Given the description of an element on the screen output the (x, y) to click on. 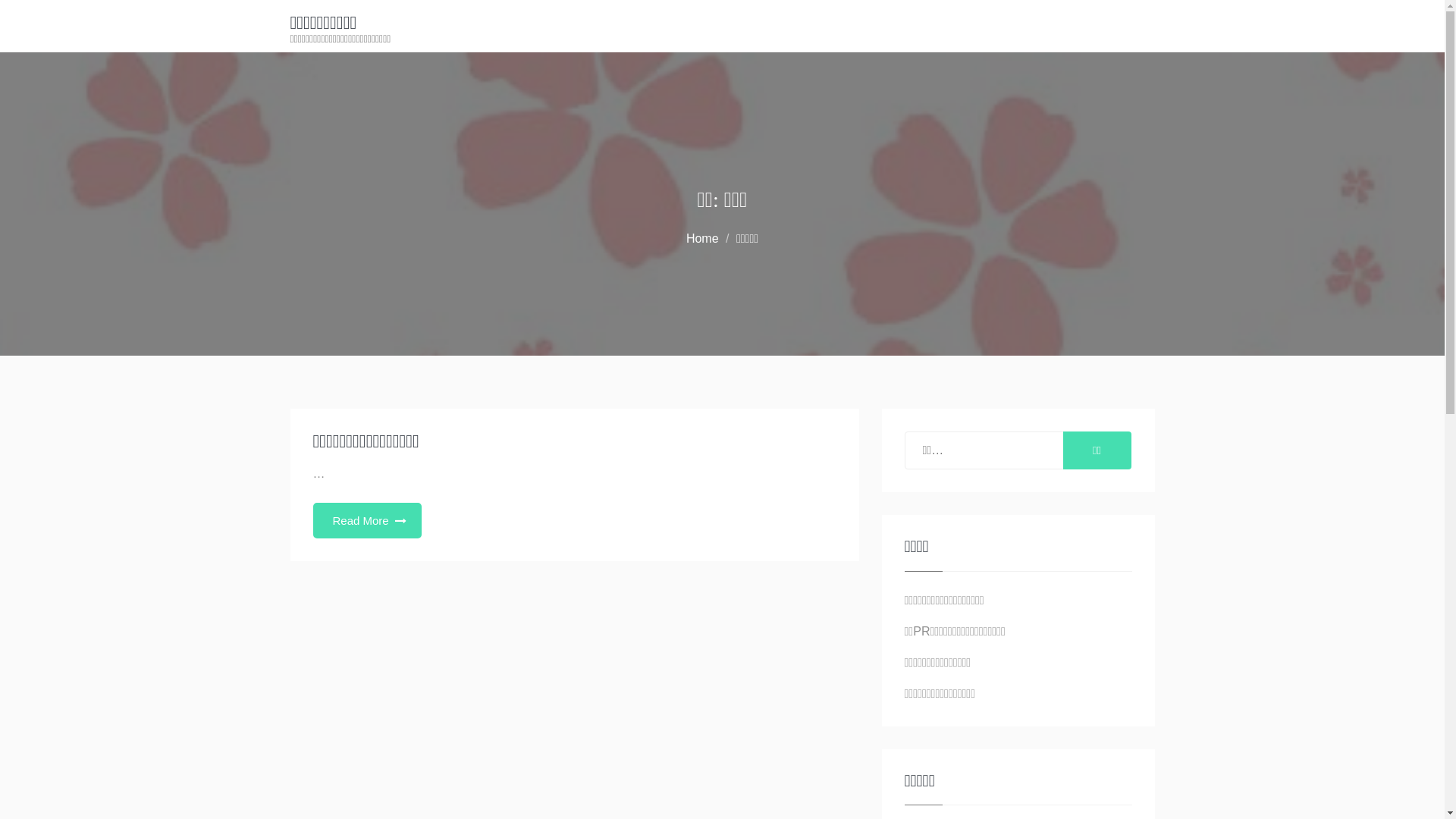
Read More Element type: text (366, 520)
Home Element type: text (702, 238)
